Given the description of an element on the screen output the (x, y) to click on. 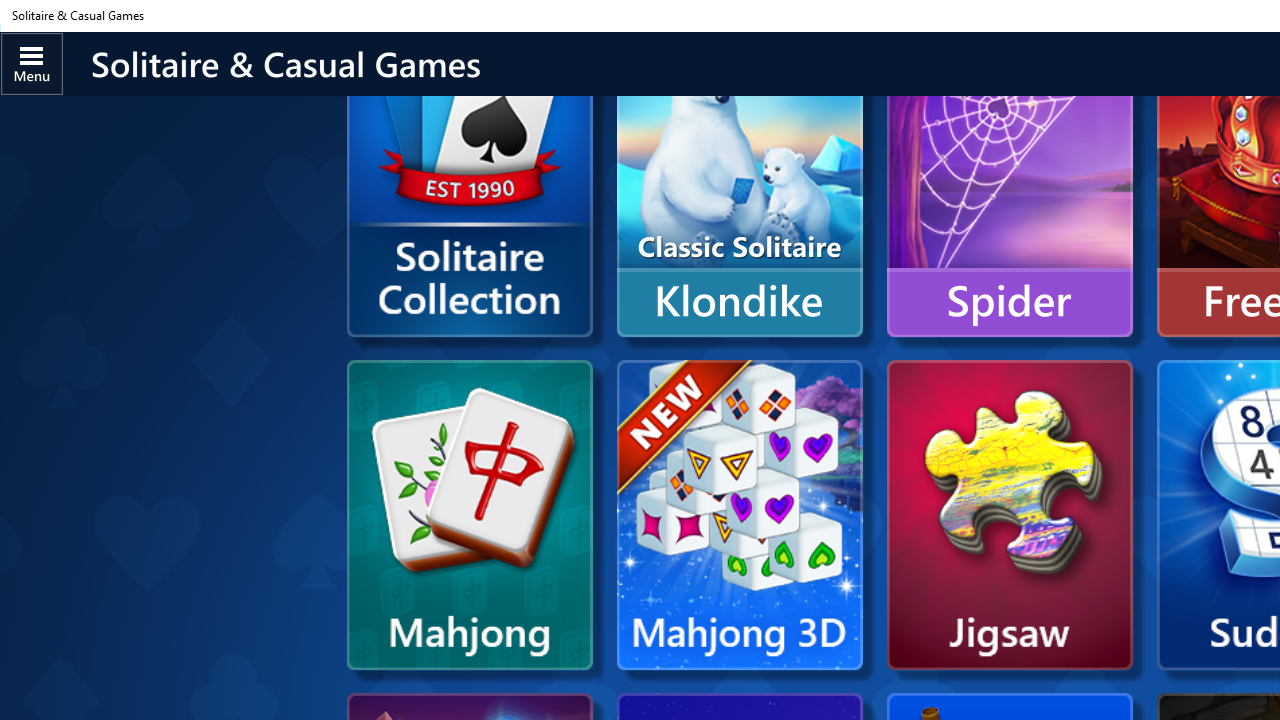
Classic Solitaire, Klondike (739, 181)
Microsoft Mahjong (469, 515)
Microsoft Jigsaw (1009, 515)
Mahjong 3D (739, 515)
Spider (1009, 181)
Menu (32, 63)
Microsoft Solitaire Collection (469, 211)
